Given the description of an element on the screen output the (x, y) to click on. 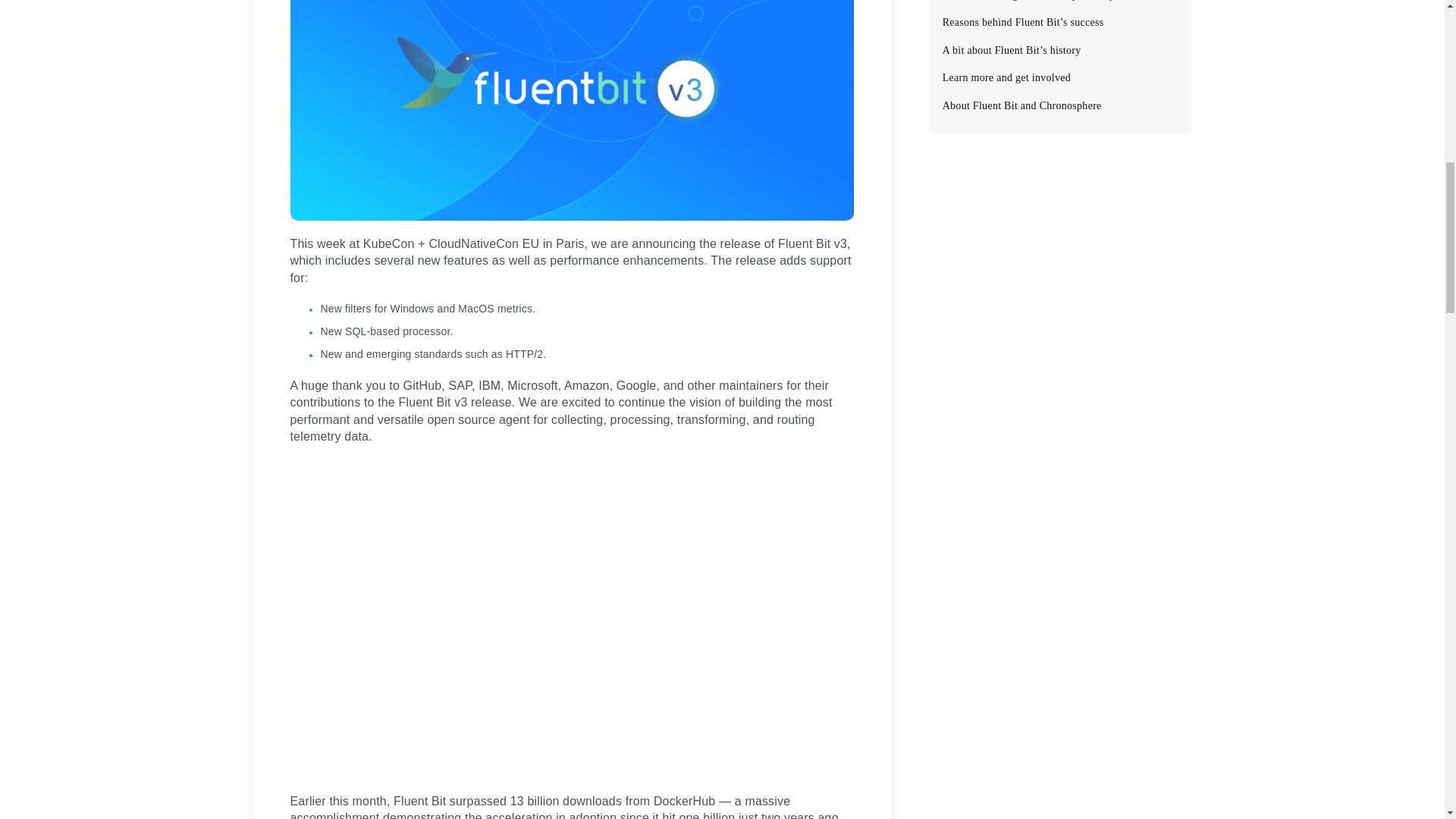
About Fluent Bit and Chronosphere (1058, 105)
Learn more and get involved (1058, 77)
